Given the description of an element on the screen output the (x, y) to click on. 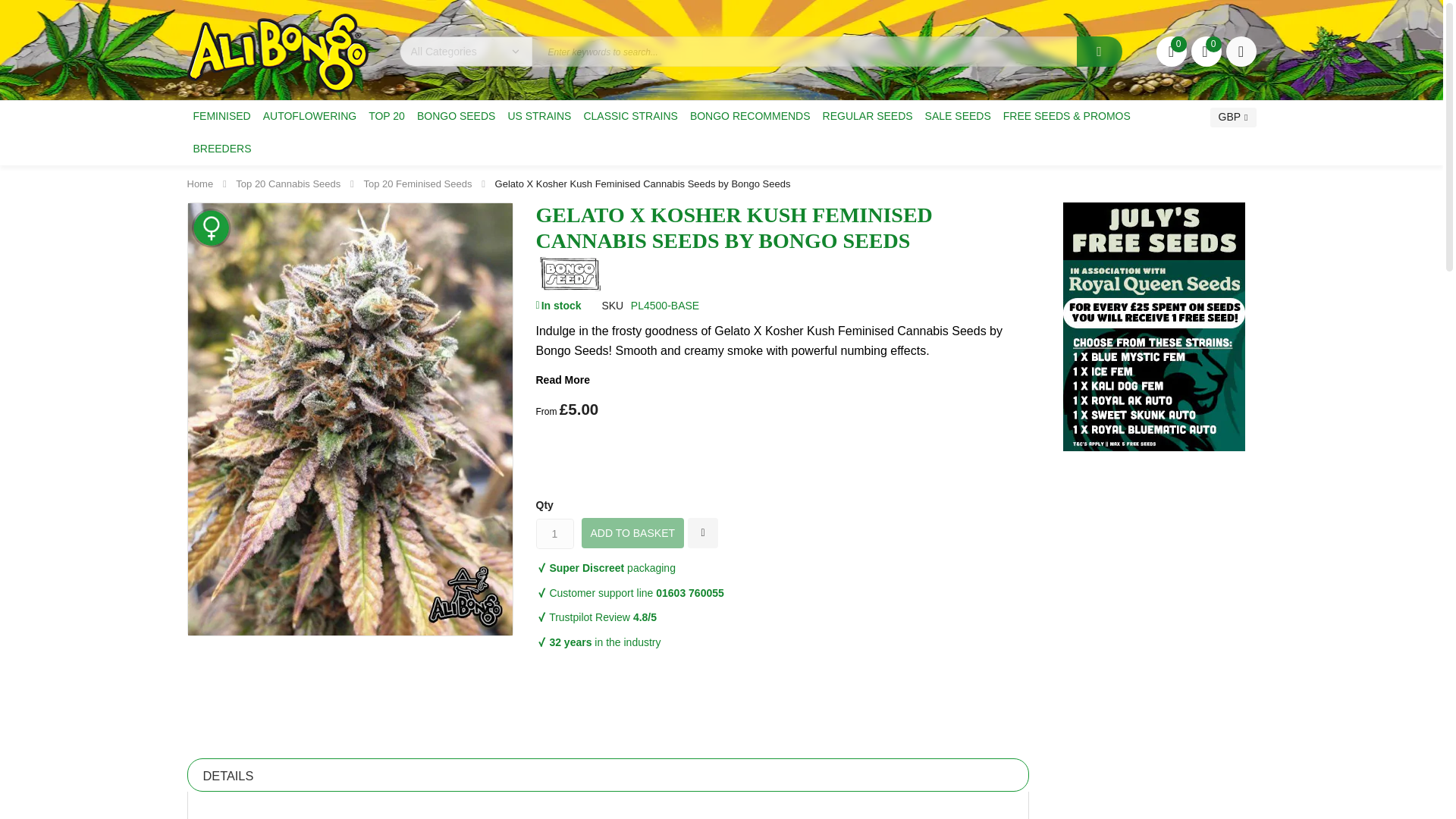
BONGO SEEDS (455, 115)
AUTOFLOWERING (309, 115)
SALE SEEDS (957, 115)
CLASSIC STRAINS (629, 115)
0 (1171, 51)
Qty (554, 533)
TOP 20 (386, 115)
Go to Home Page (199, 183)
FEMINISED (221, 115)
REGULAR SEEDS (867, 115)
Add to Compare (702, 532)
Add to Basket (632, 532)
Ali Bongo (277, 52)
Wishlist (1171, 51)
Search (1099, 51)
